Given the description of an element on the screen output the (x, y) to click on. 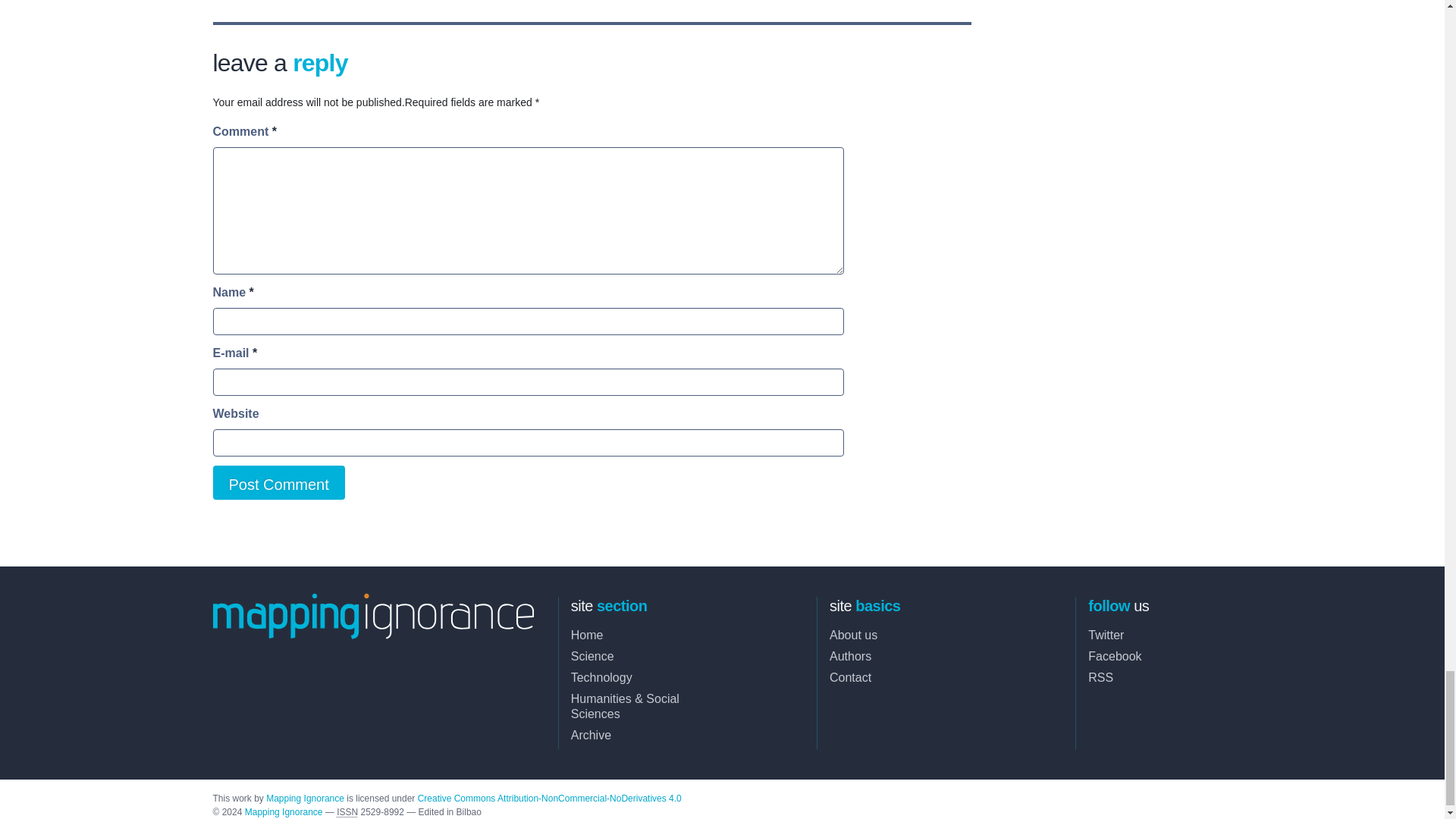
International Standard Serial Number (347, 811)
Post Comment (277, 482)
